Given the description of an element on the screen output the (x, y) to click on. 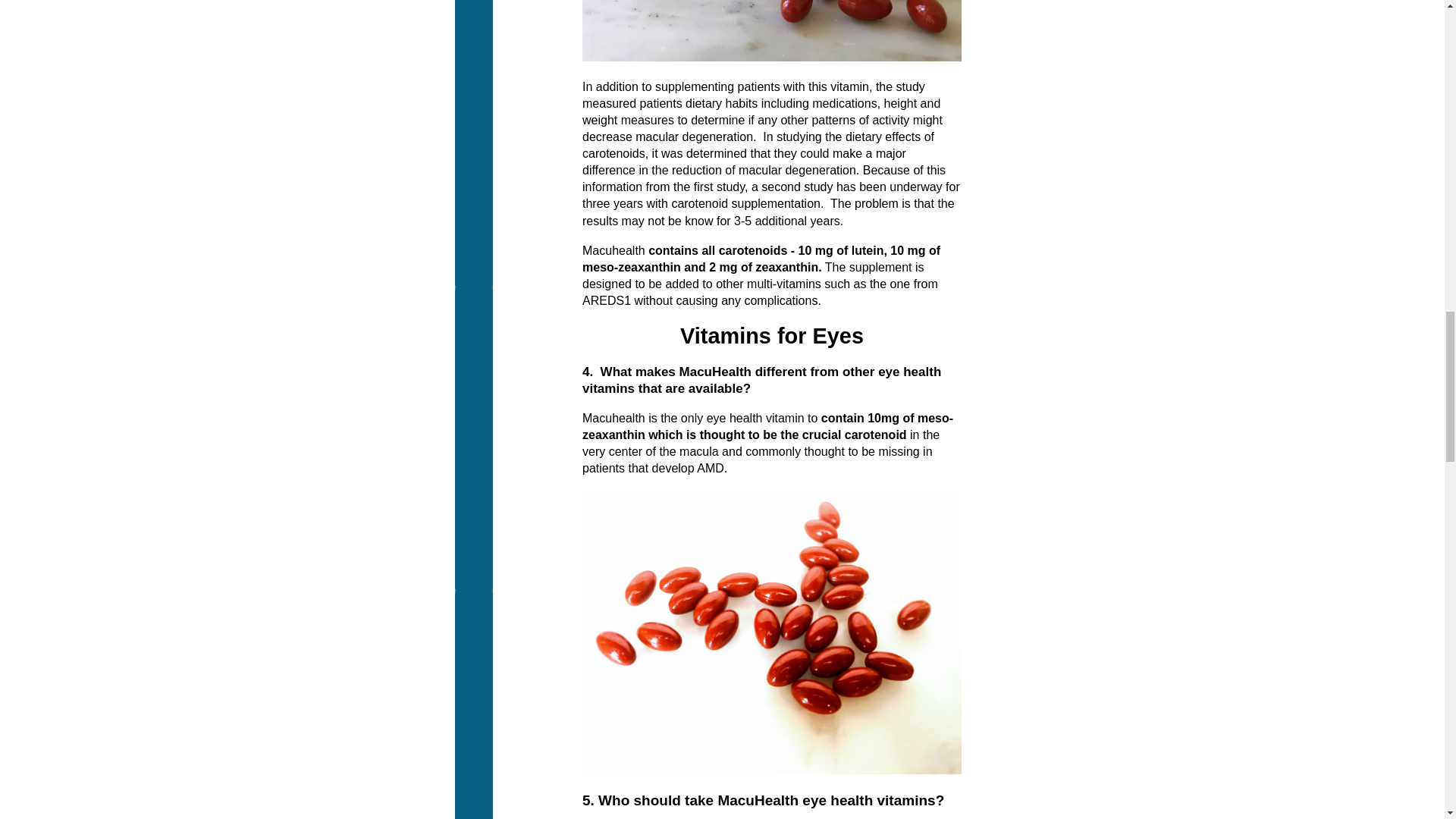
vitamins to prevent macular degeneration (771, 631)
